Given the description of an element on the screen output the (x, y) to click on. 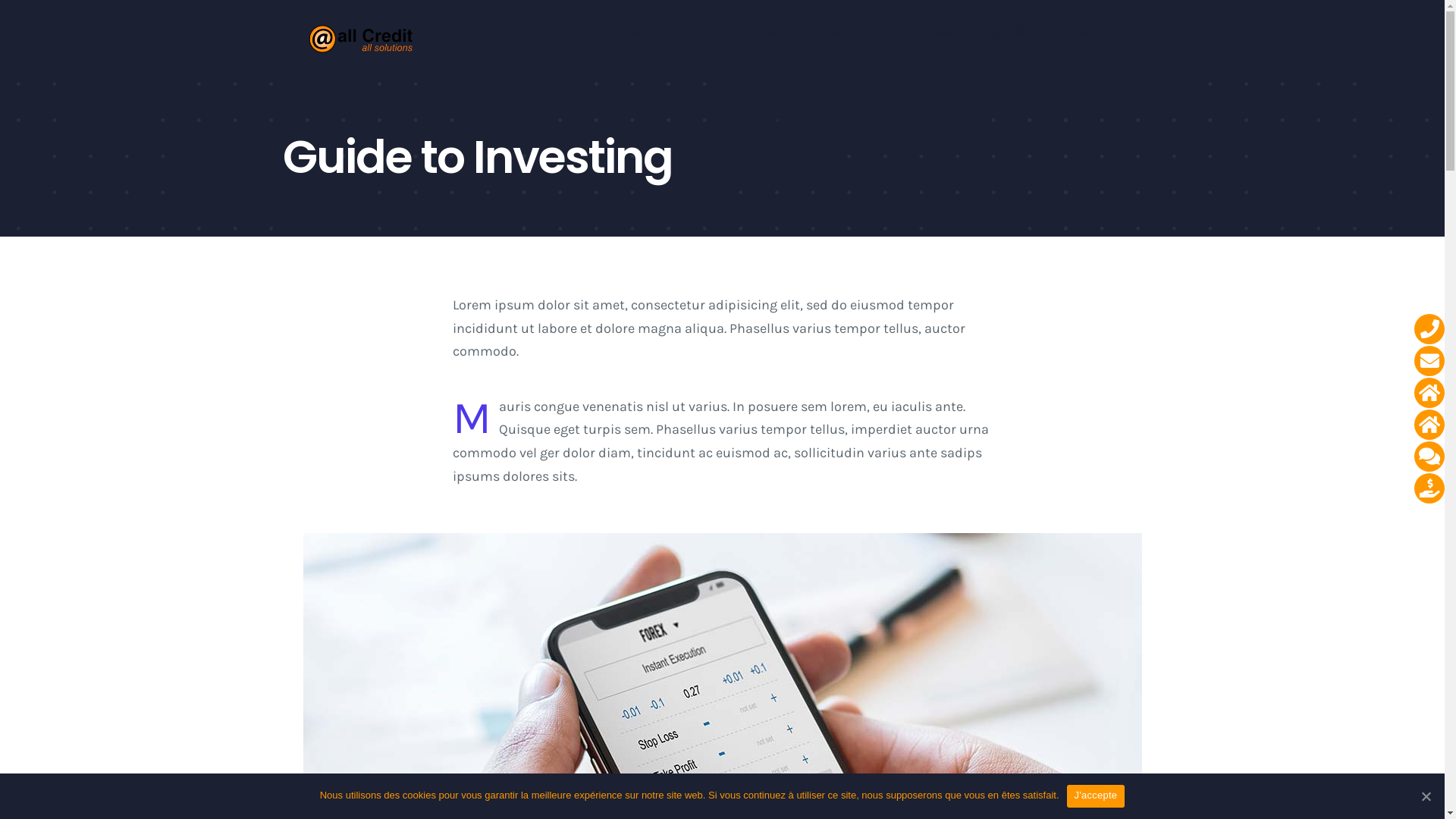
Assurances Element type: text (921, 31)
Accueil Element type: text (635, 31)
J'accepte Element type: text (1095, 795)
Conditions et Radiations Element type: text (771, 31)
Contact Element type: text (1094, 31)
